Given the description of an element on the screen output the (x, y) to click on. 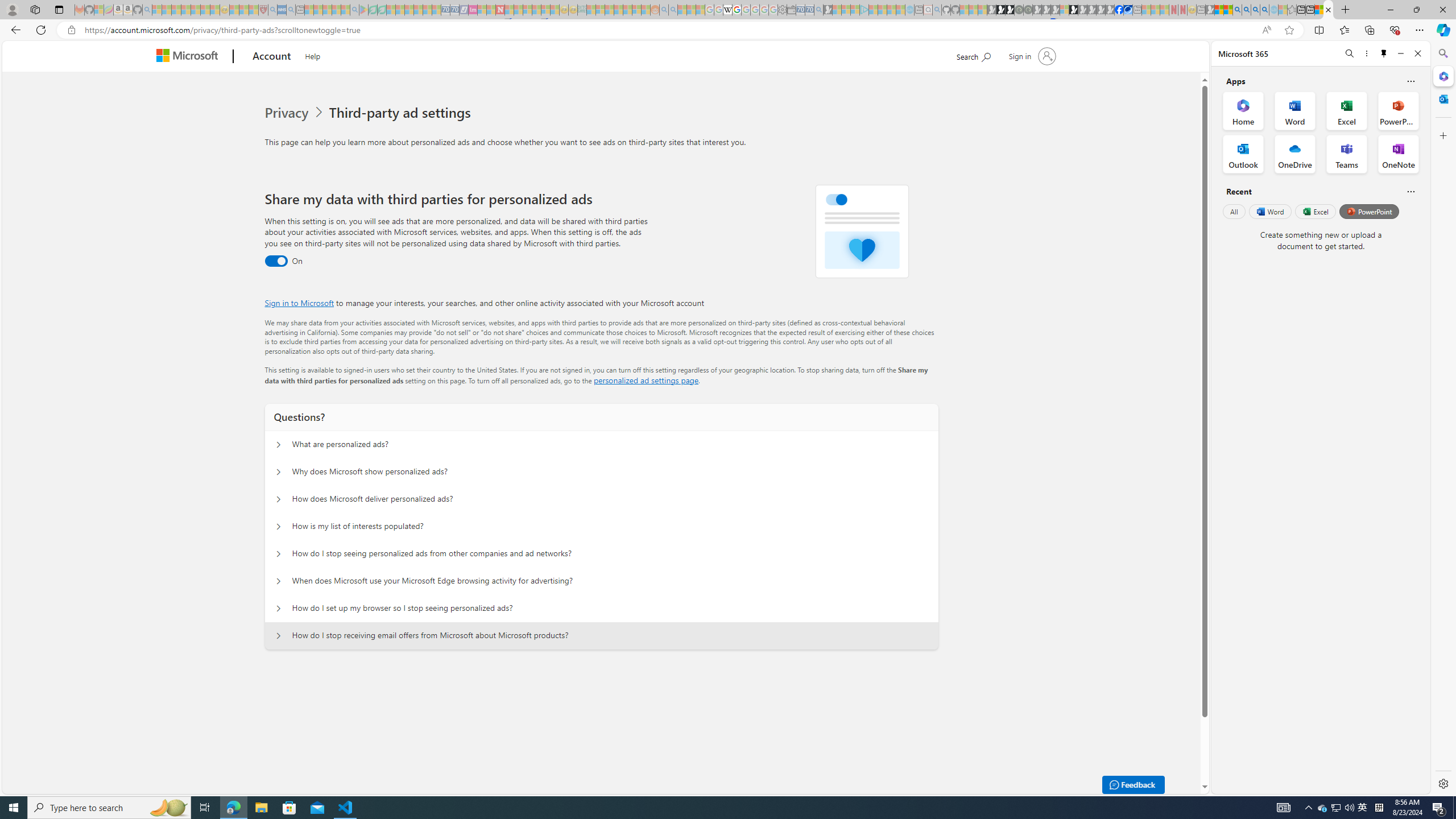
All (1233, 210)
